Given the description of an element on the screen output the (x, y) to click on. 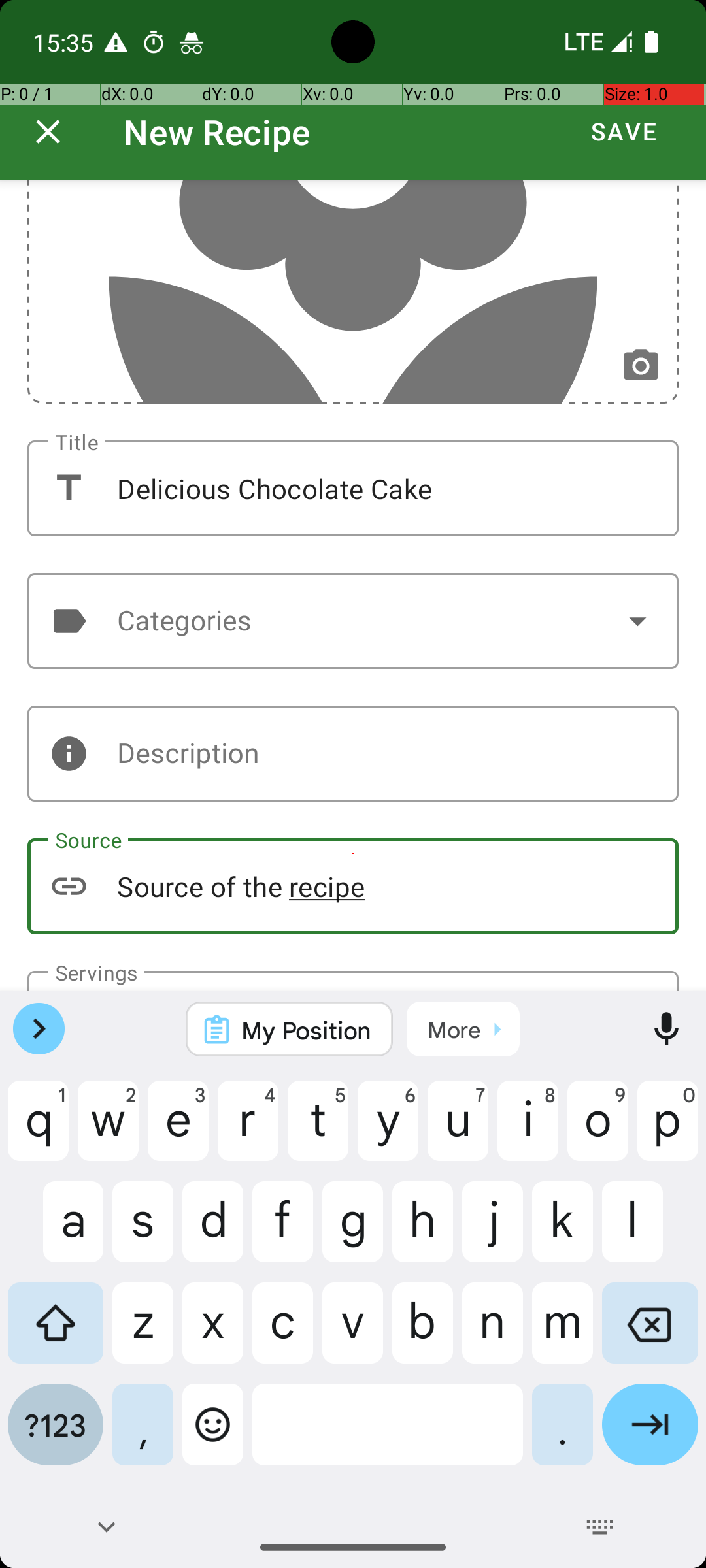
Delicious Chocolate Cake Element type: android.widget.EditText (352, 488)
Source of the recipe Element type: android.widget.EditText (352, 886)
